Given the description of an element on the screen output the (x, y) to click on. 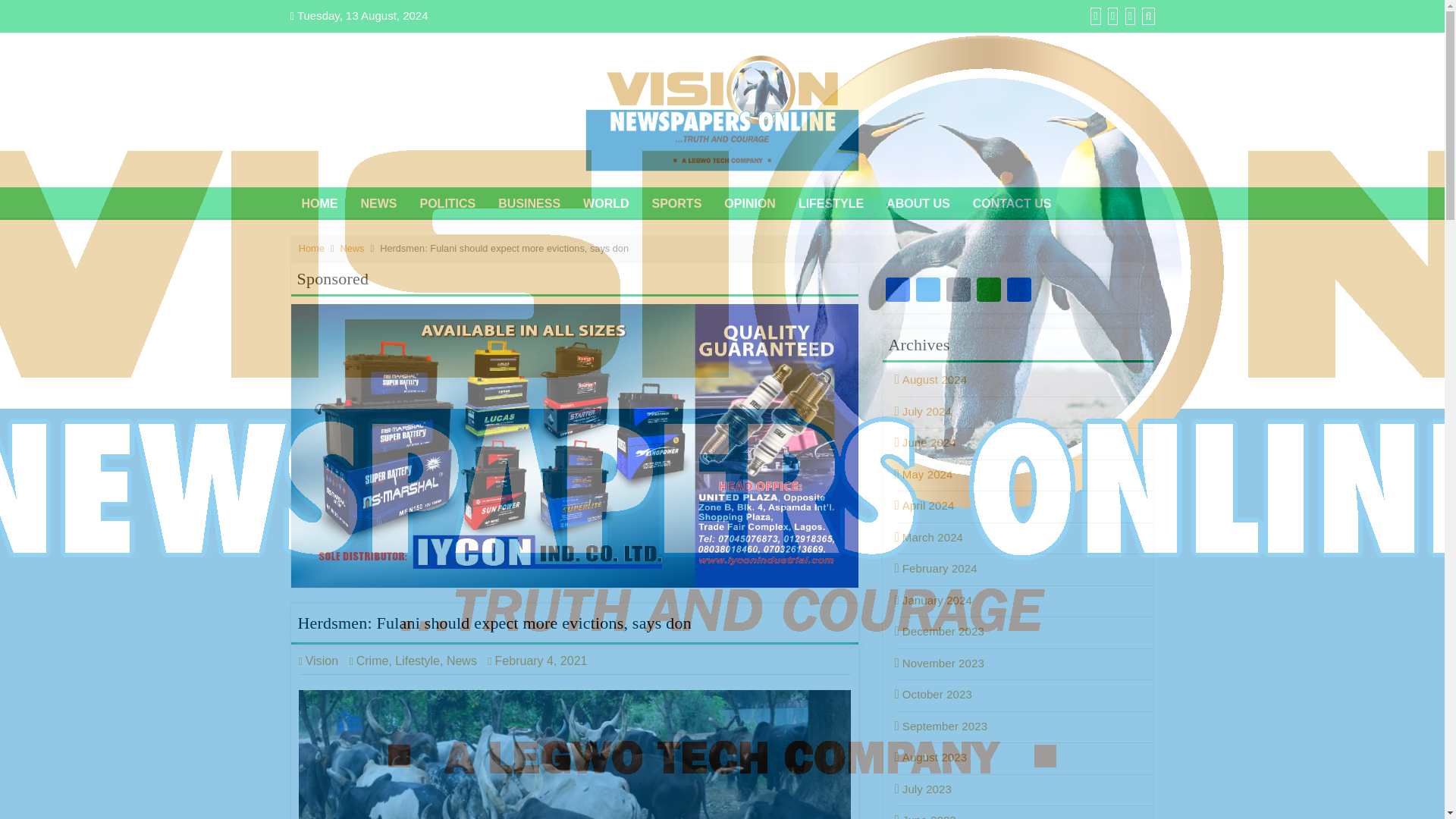
OPINION (750, 202)
WORLD (606, 202)
News (352, 247)
Lifestyle (416, 660)
ABOUT US (917, 202)
Facebook (897, 291)
Twitter (927, 291)
Email (958, 291)
Home (311, 247)
NEWS (378, 202)
